Given the description of an element on the screen output the (x, y) to click on. 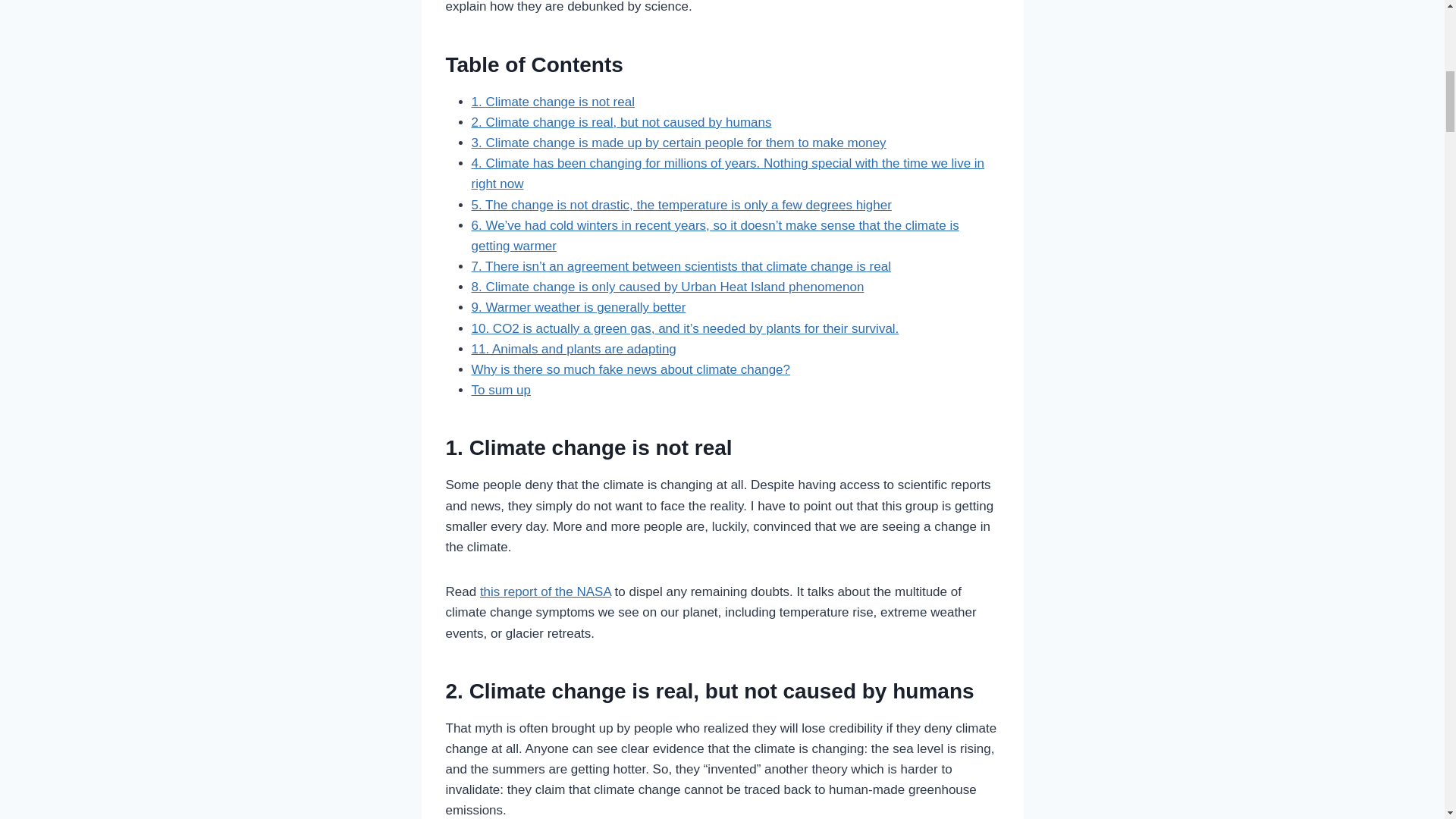
Why is there so much fake news about climate change? (630, 369)
1. Climate change is not real (552, 101)
9. Warmer weather is generally better (578, 307)
11. Animals and plants are adapting (574, 349)
To sum up (501, 390)
2. Climate change is real, but not caused by humans (621, 122)
